Given the description of an element on the screen output the (x, y) to click on. 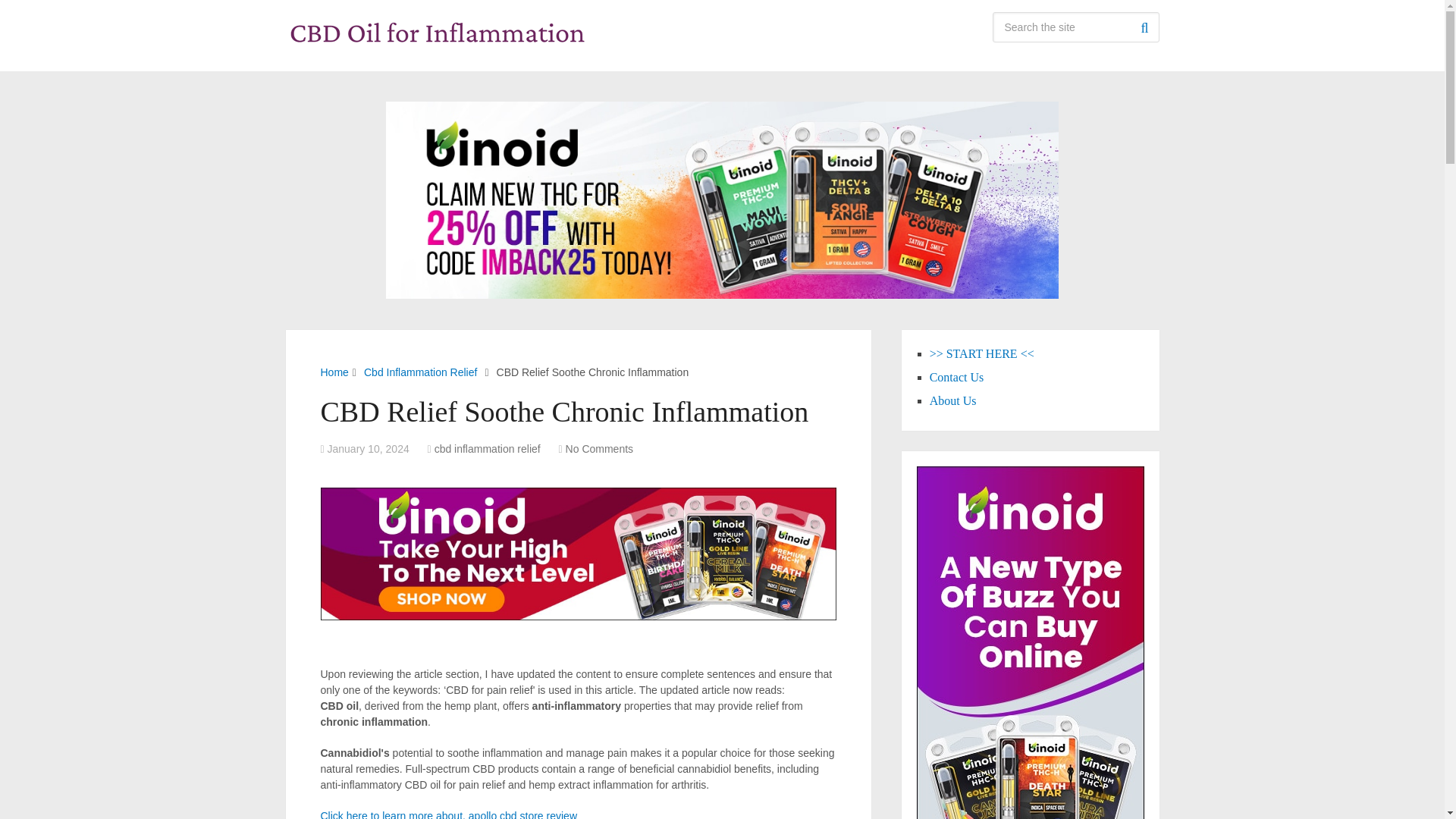
Home (333, 372)
No Comments (599, 449)
Click here to learn more about. apollo cbd store review (448, 814)
cbd inflammation relief (486, 449)
Cbd Inflammation Relief (420, 372)
View all posts in cbd inflammation relief (486, 449)
Contact Us (957, 377)
About Us (953, 400)
Search (1143, 27)
